Given the description of an element on the screen output the (x, y) to click on. 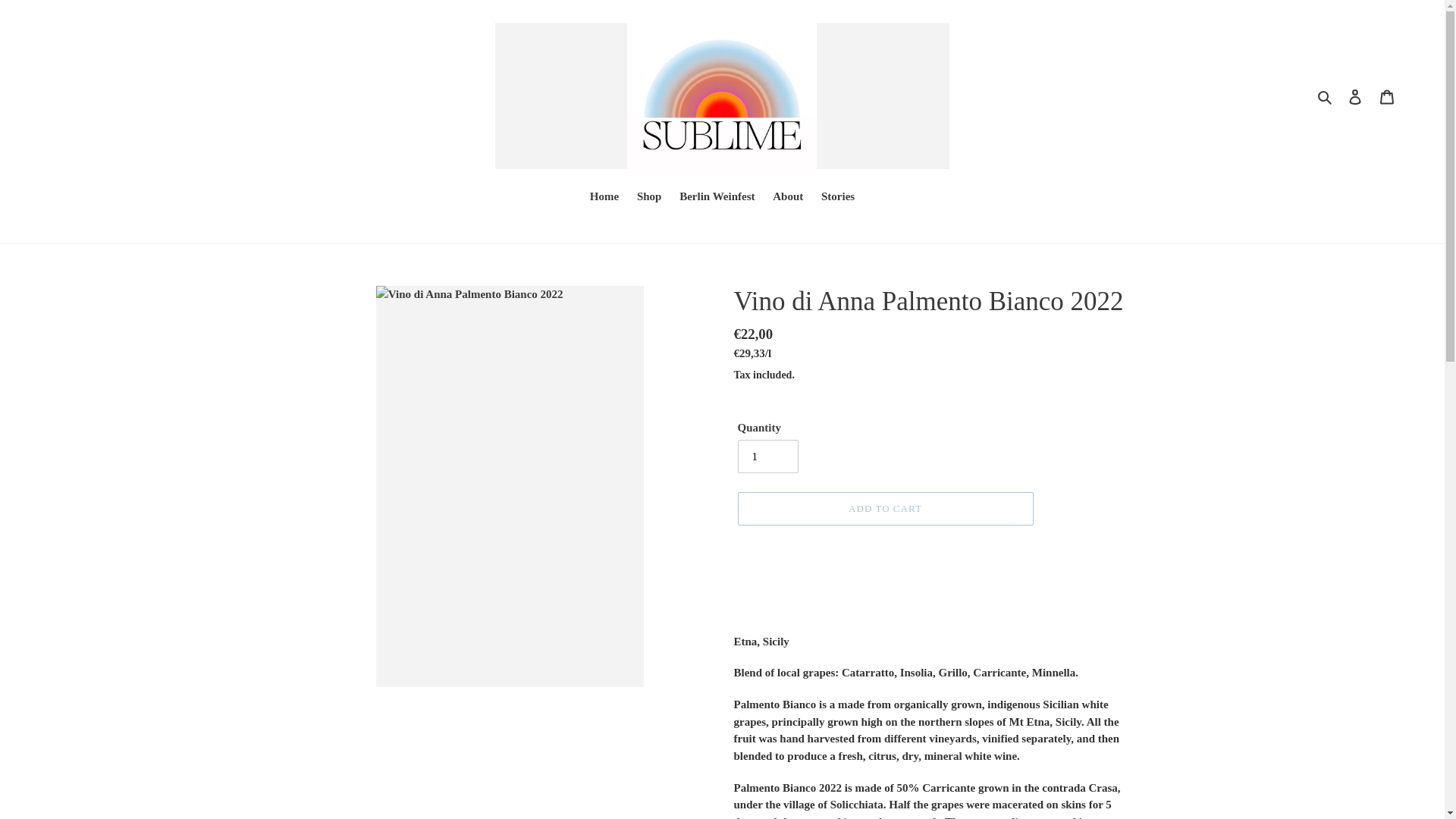
Stories (837, 198)
About (787, 198)
Cart (1387, 95)
Home (604, 198)
ADD TO CART (884, 508)
Log in (1355, 95)
Page 1 (934, 757)
Search (1326, 95)
Shop (648, 198)
Berlin Weinfest (716, 198)
